Given the description of an element on the screen output the (x, y) to click on. 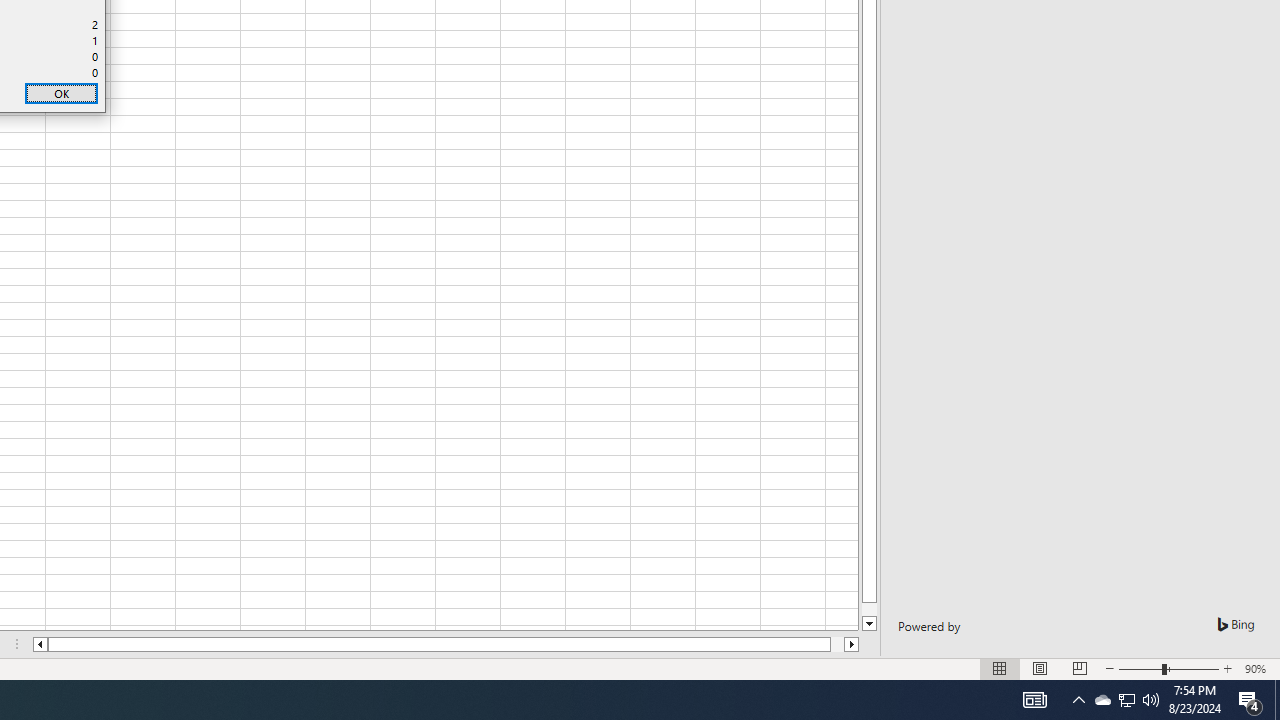
Zoom (1168, 668)
Line down (869, 624)
Zoom Out (1140, 668)
Q2790: 100% (1151, 699)
Notification Chevron (1078, 699)
Class: NetUIScrollBar (445, 644)
OK (61, 93)
